Given the description of an element on the screen output the (x, y) to click on. 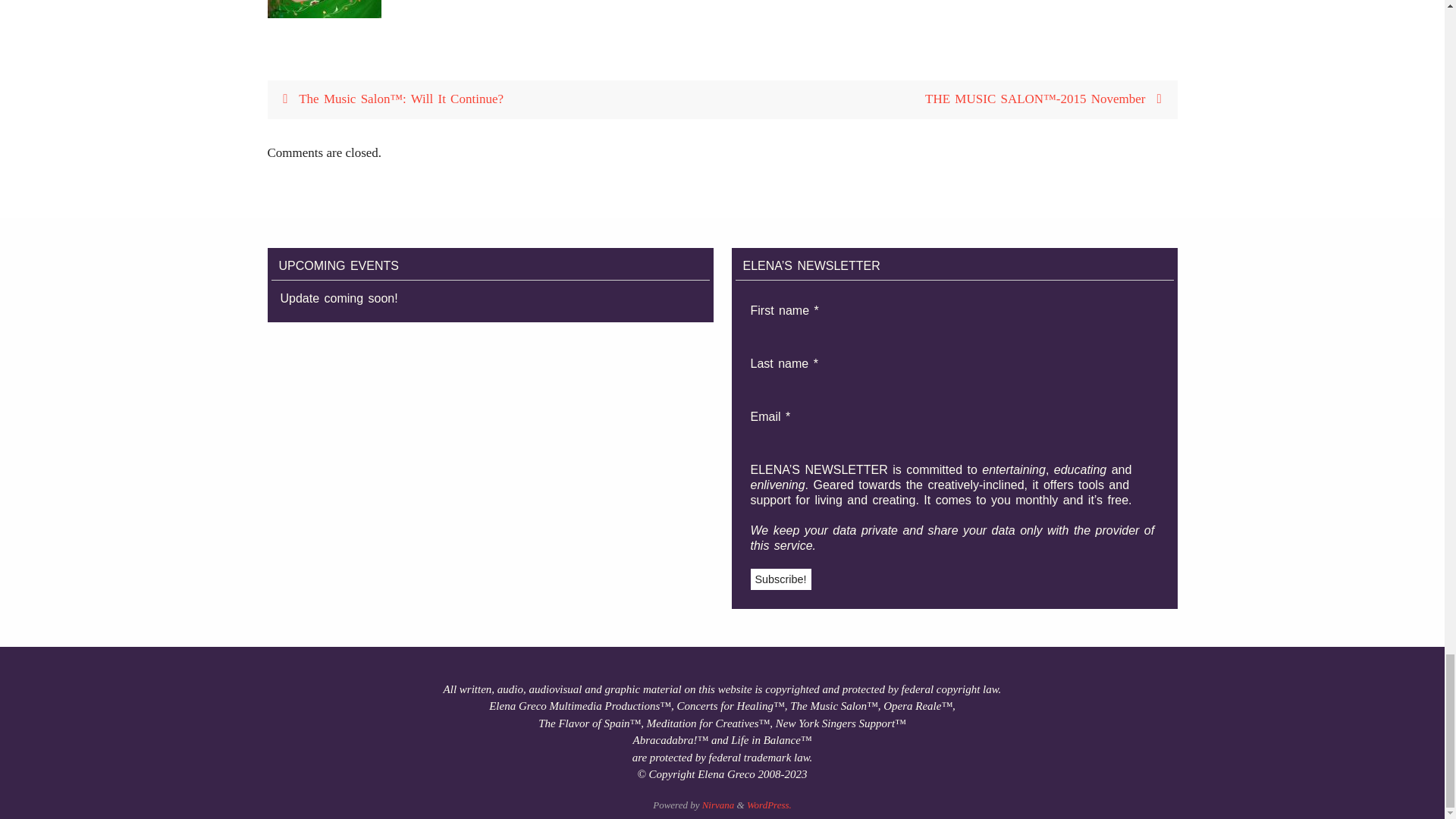
Semantic Personal Publishing Platform (769, 803)
Email (826, 435)
Subscribe! (780, 578)
Last name (826, 382)
Nirvana Theme by Cryout Creations (718, 803)
First name (826, 328)
